Given the description of an element on the screen output the (x, y) to click on. 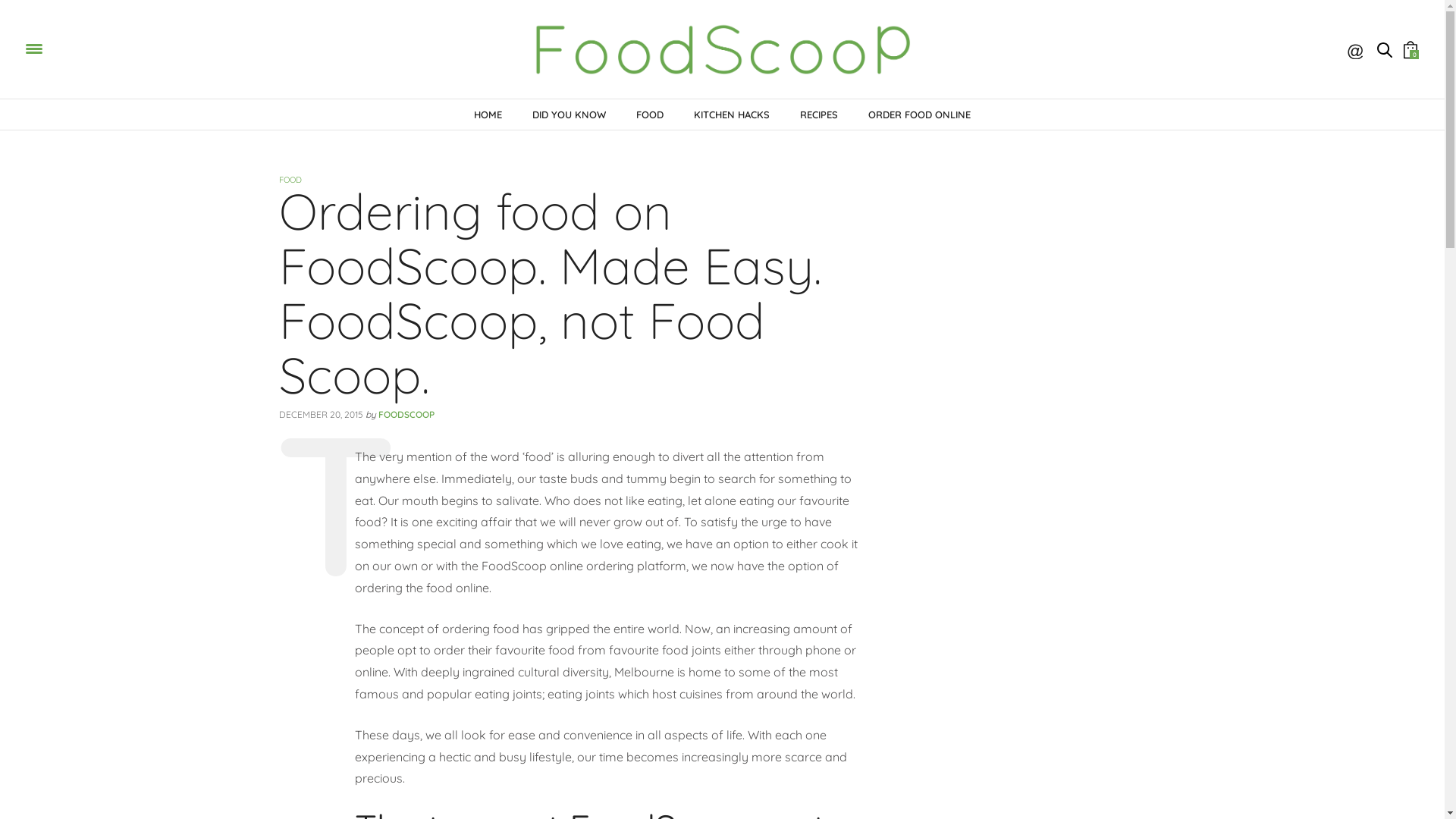
FOOD Element type: text (649, 114)
FOOD Element type: text (290, 179)
DID YOU KNOW Element type: text (568, 114)
FOODSCOOP Element type: text (405, 414)
0 Element type: text (1410, 48)
FoodScoop | Blog Element type: hover (163, 47)
ORDER FOOD ONLINE Element type: text (919, 114)
RECIPES Element type: text (818, 114)
HOME Element type: text (487, 114)
FoodScoop | Blog Element type: hover (721, 48)
KITCHEN HACKS Element type: text (731, 114)
